Given the description of an element on the screen output the (x, y) to click on. 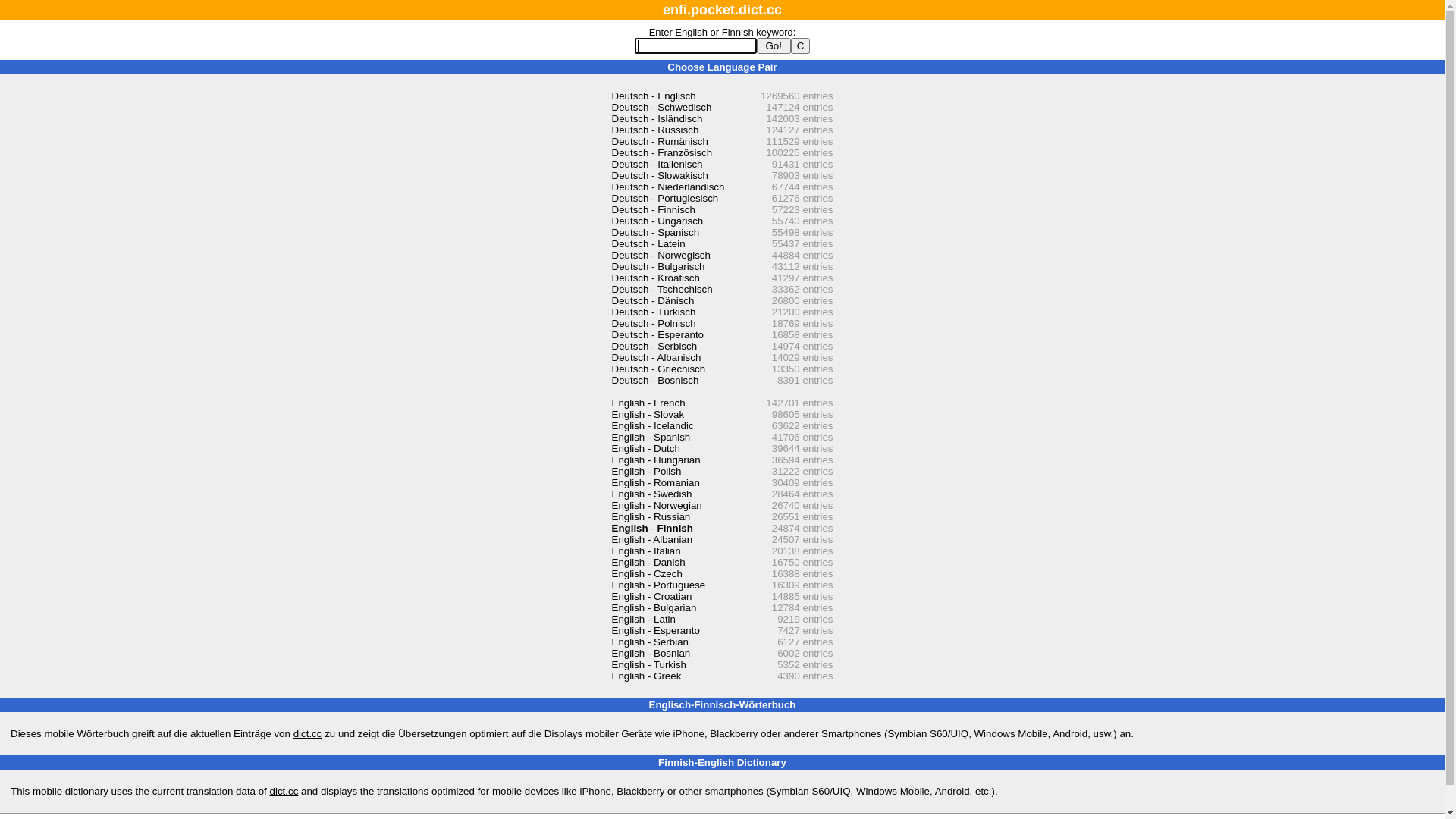
Deutsch - Norwegisch Element type: text (660, 254)
English - Norwegian Element type: text (656, 505)
Deutsch - Bosnisch Element type: text (654, 379)
Deutsch - Schwedisch Element type: text (661, 106)
English - Polish Element type: text (645, 470)
Deutsch - Finnisch Element type: text (652, 209)
English - Albanian Element type: text (651, 539)
Deutsch - Polnisch Element type: text (653, 323)
English - Spanish Element type: text (650, 436)
English - Latin Element type: text (642, 618)
Deutsch - Bulgarisch Element type: text (657, 266)
English - Dutch Element type: text (645, 448)
English - Italian Element type: text (645, 550)
Deutsch - Spanisch Element type: text (655, 232)
English - Icelandic Element type: text (652, 425)
English - Russian Element type: text (650, 516)
Deutsch - Kroatisch Element type: text (655, 277)
English - French Element type: text (647, 402)
Deutsch - Esperanto Element type: text (657, 334)
enfi.pocket.dict.cc Element type: text (721, 9)
English - Danish Element type: text (647, 561)
English - Esperanto Element type: text (655, 630)
English - Serbian Element type: text (649, 641)
dict.cc Element type: text (283, 791)
 Go!  Element type: text (773, 45)
Deutsch - Tschechisch Element type: text (661, 288)
English - Croatian Element type: text (651, 596)
English - Bulgarian Element type: text (653, 607)
Deutsch - Englisch Element type: text (653, 95)
English - Finnish Element type: text (651, 527)
English - Portuguese Element type: text (658, 584)
dict.cc Element type: text (307, 733)
English - Greek Element type: text (645, 675)
English - Swedish Element type: text (651, 493)
English - Romanian Element type: text (655, 482)
Deutsch - Italienisch Element type: text (656, 163)
Deutsch - Russisch Element type: text (654, 129)
Deutsch - Serbisch Element type: text (653, 345)
Deutsch - Albanisch Element type: text (655, 357)
English - Slovak Element type: text (647, 414)
English - Turkish Element type: text (648, 664)
Deutsch - Portugiesisch Element type: text (664, 197)
English - Bosnian Element type: text (650, 652)
Deutsch - Griechisch Element type: text (658, 368)
Deutsch - Latein Element type: text (647, 243)
Deutsch - Ungarisch Element type: text (656, 220)
C Element type: text (800, 45)
English - Czech Element type: text (646, 573)
Deutsch - Slowakisch Element type: text (659, 175)
English - Hungarian Element type: text (655, 459)
